Given the description of an element on the screen output the (x, y) to click on. 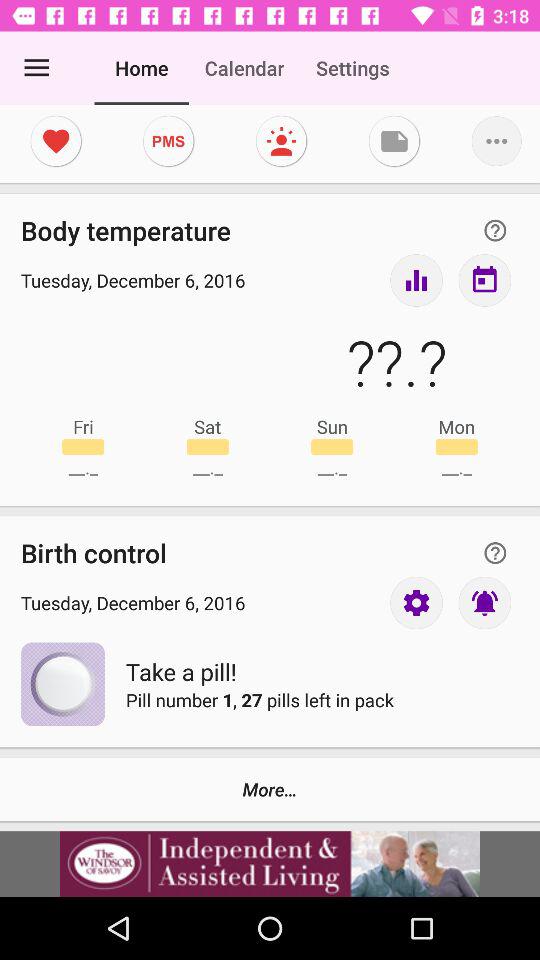
toggle help (495, 552)
